Given the description of an element on the screen output the (x, y) to click on. 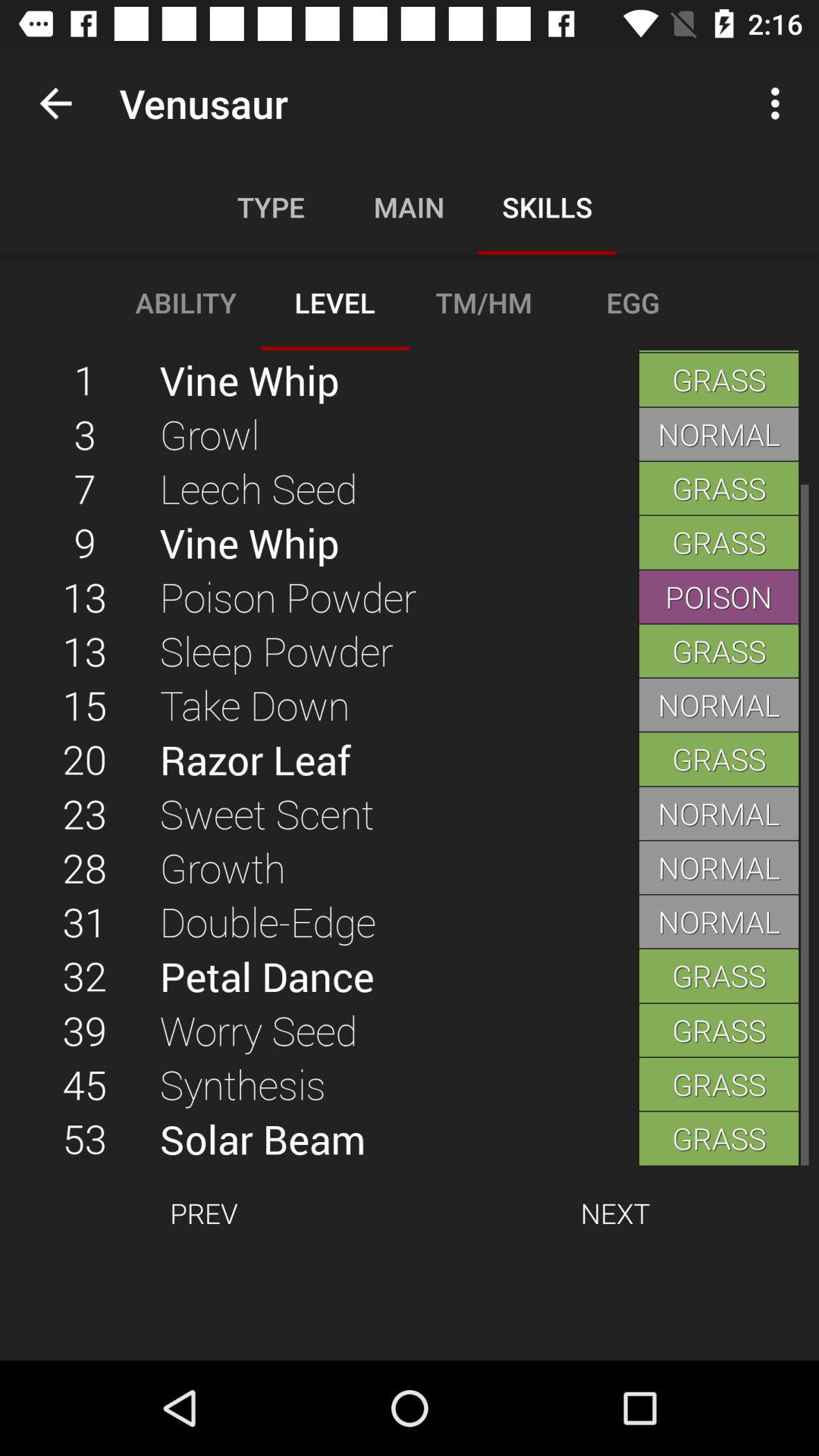
turn on item above the 1 (55, 103)
